Given the description of an element on the screen output the (x, y) to click on. 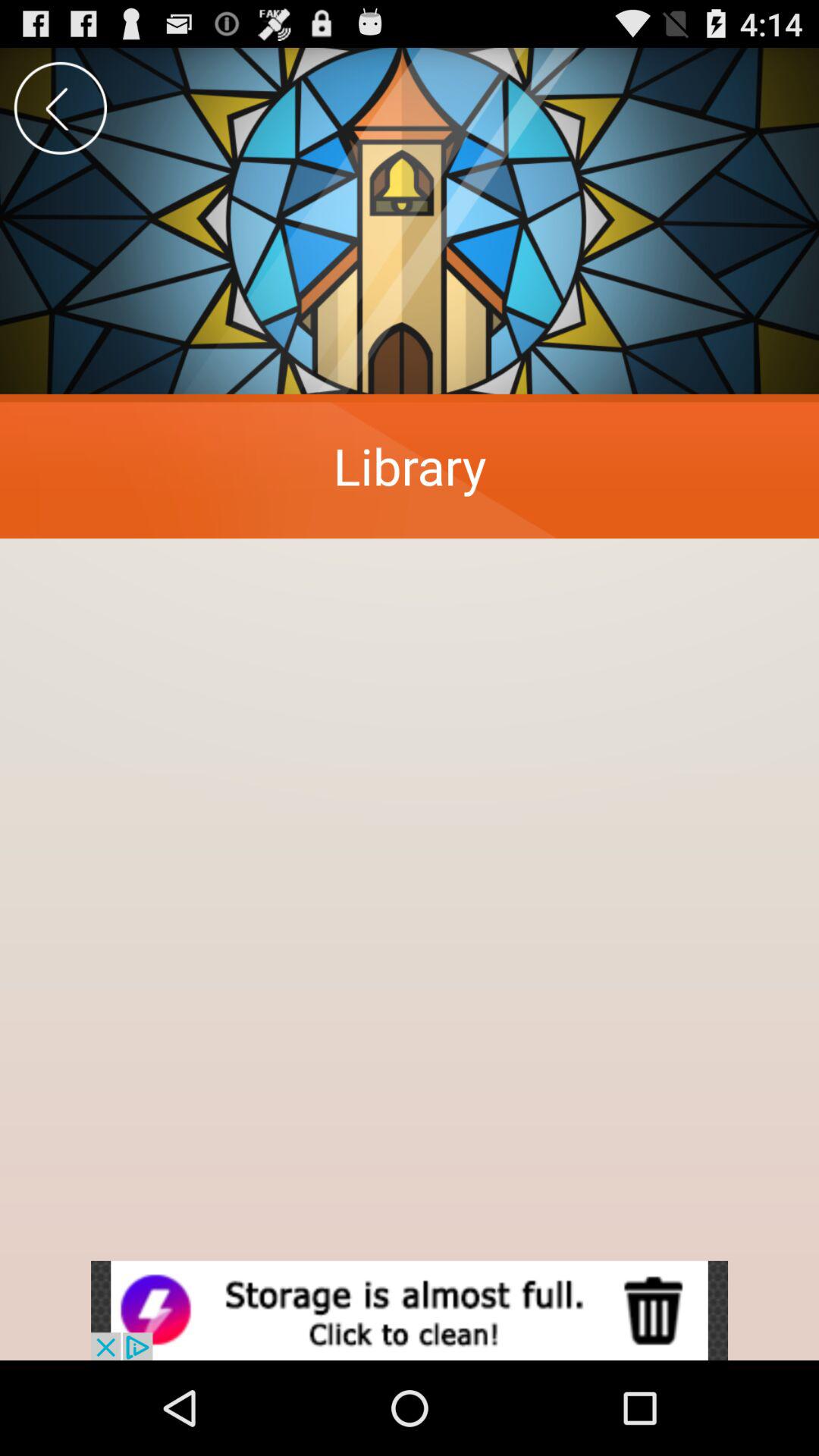
clickable advertisement (409, 1310)
